Given the description of an element on the screen output the (x, y) to click on. 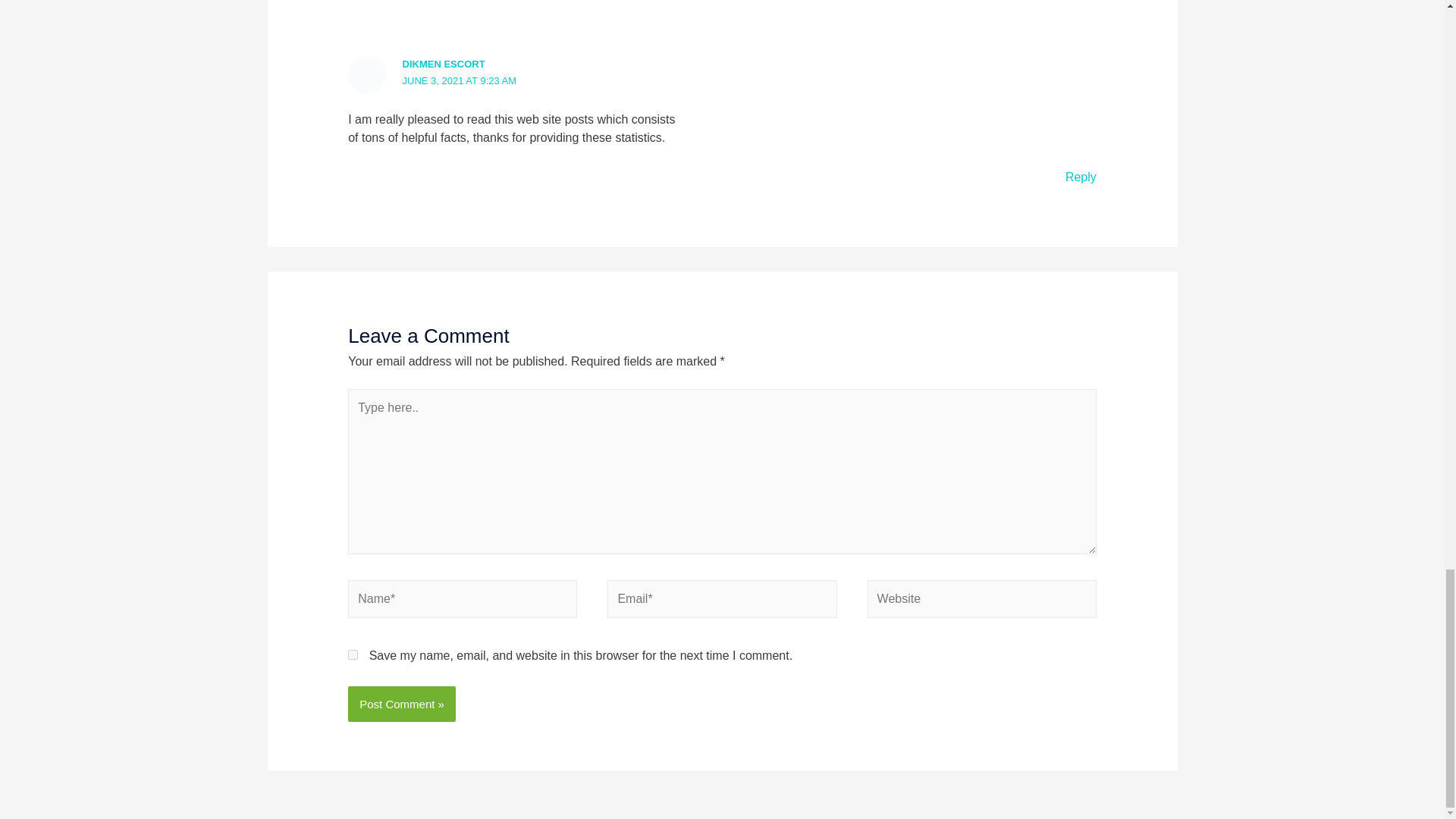
Reply (1080, 176)
JUNE 3, 2021 AT 9:23 AM (459, 80)
yes (352, 655)
